Given the description of an element on the screen output the (x, y) to click on. 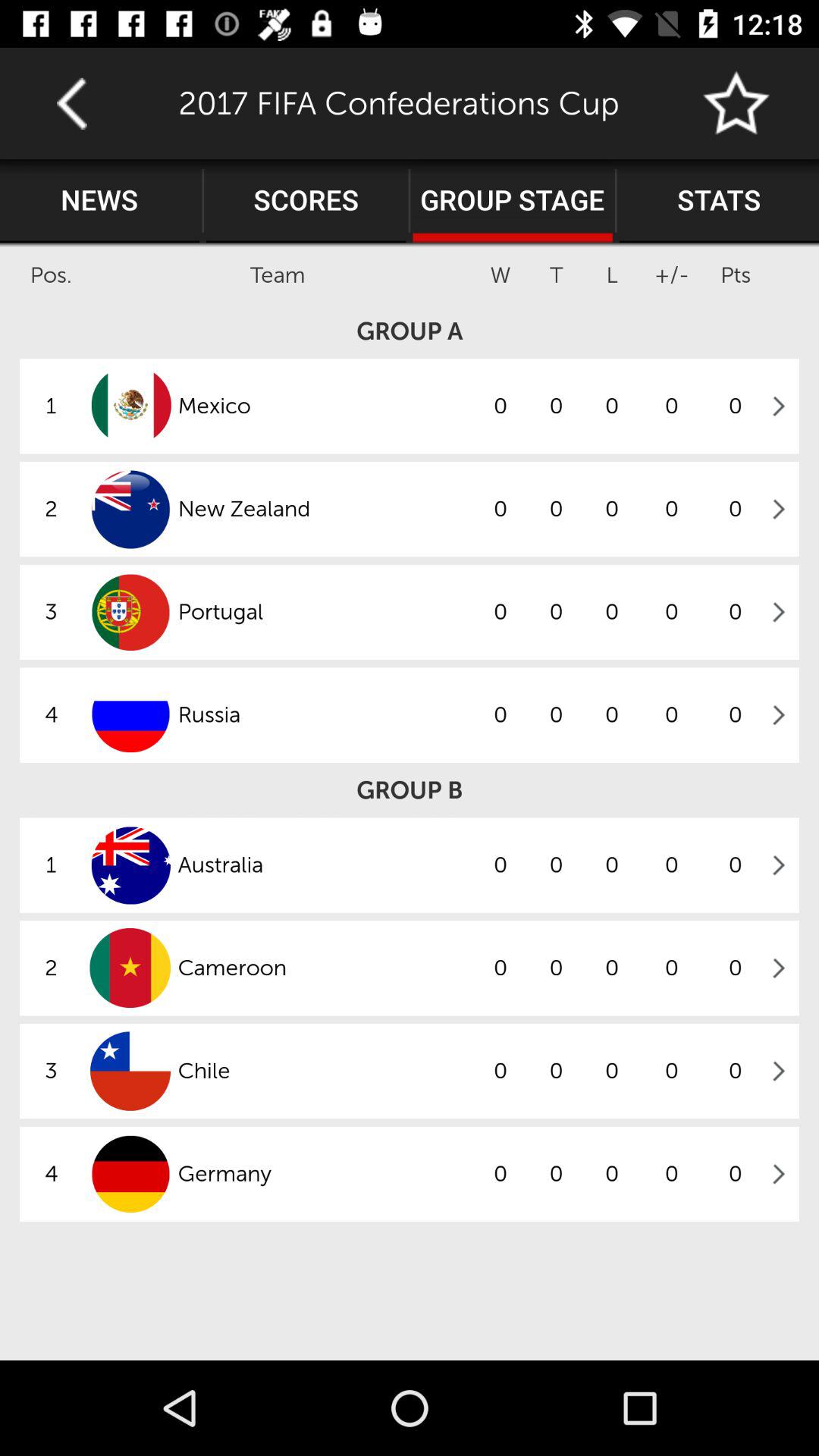
launch the item next to the 0 item (325, 864)
